Given the description of an element on the screen output the (x, y) to click on. 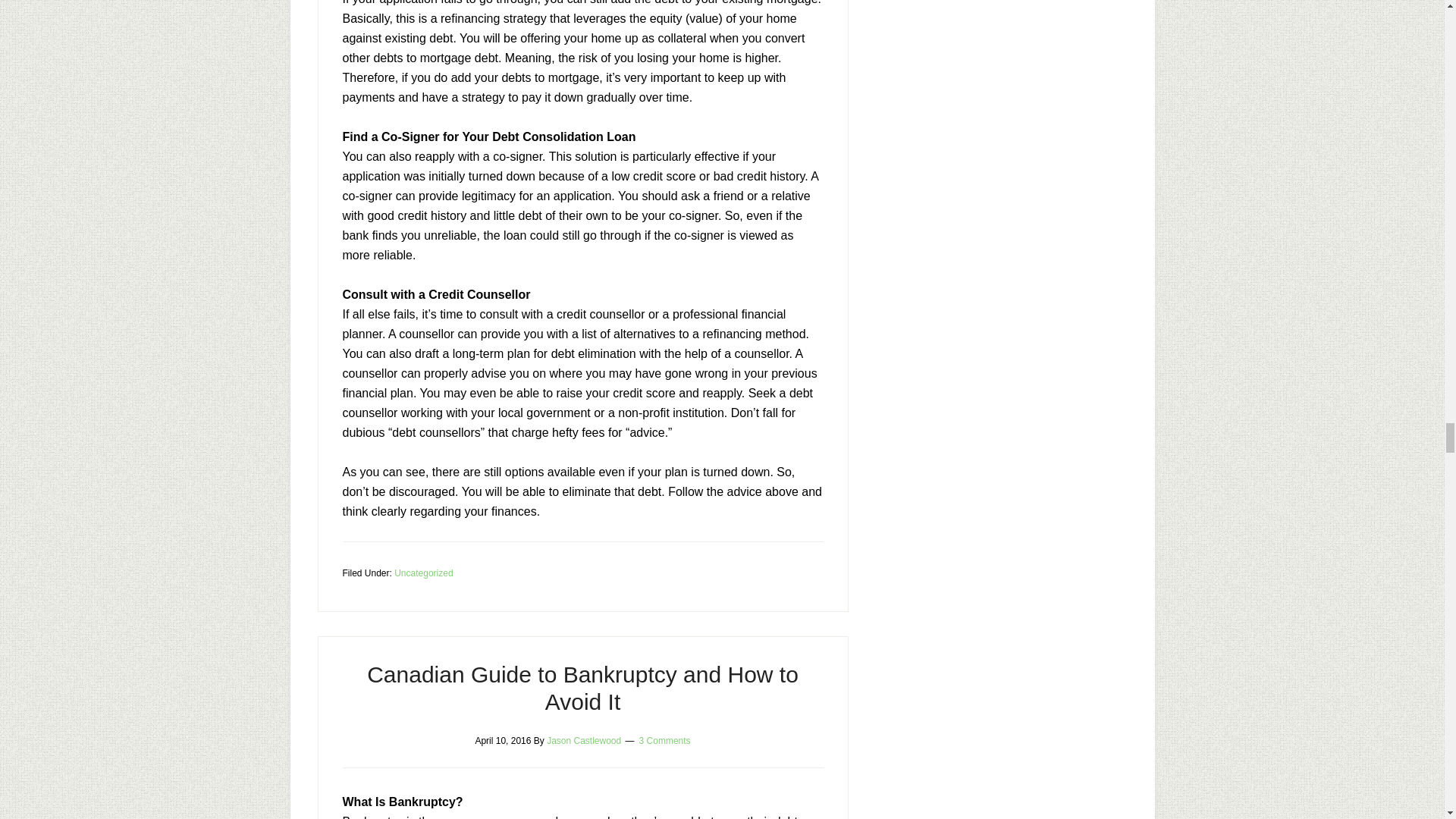
3 Comments (664, 740)
Uncategorized (423, 573)
Canadian Guide to Bankruptcy and How to Avoid It (581, 687)
Jason Castlewood (584, 740)
